Given the description of an element on the screen output the (x, y) to click on. 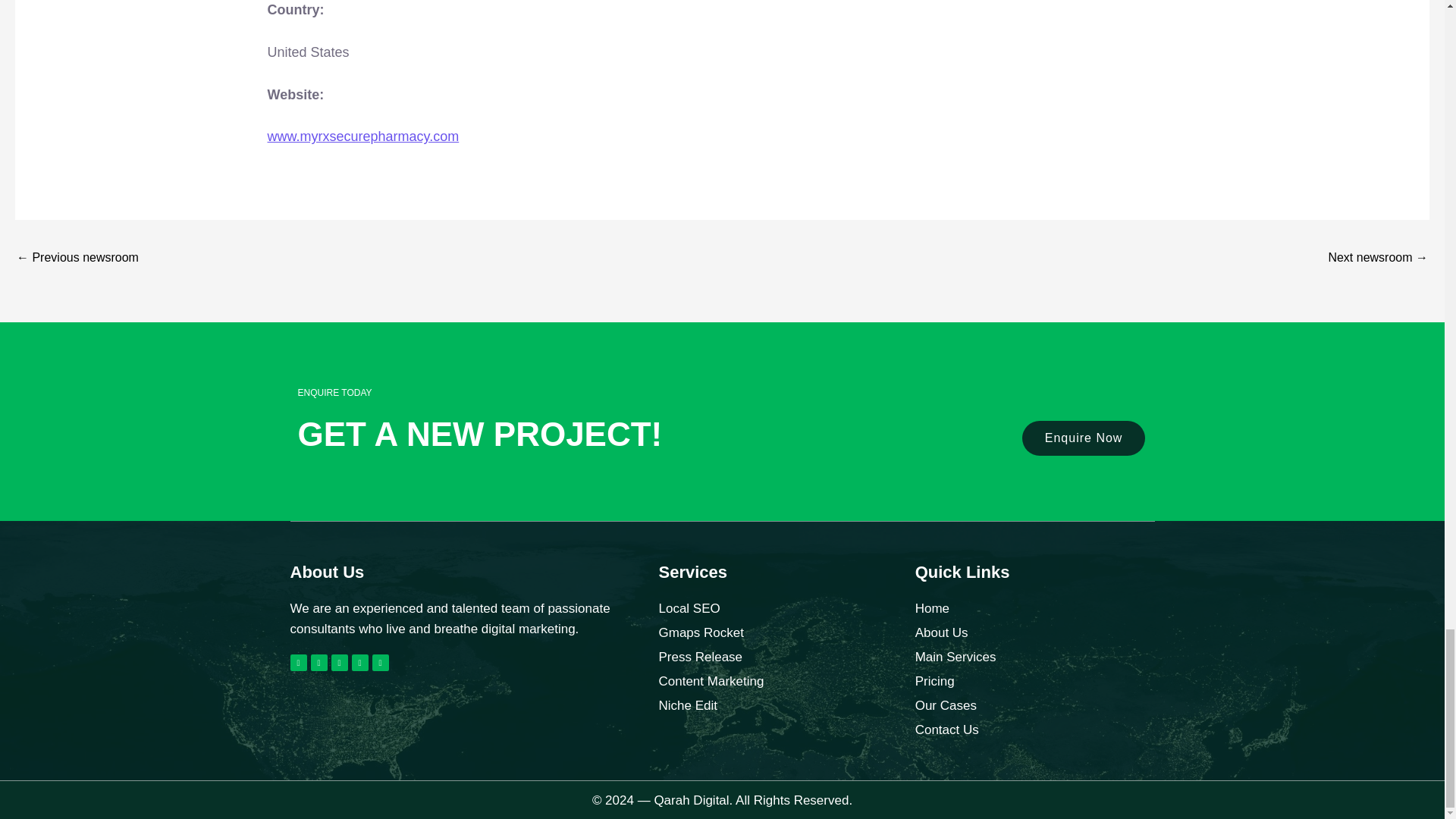
www.myrxsecurepharmacy.com (362, 136)
Enquire Now (1083, 437)
